Given the description of an element on the screen output the (x, y) to click on. 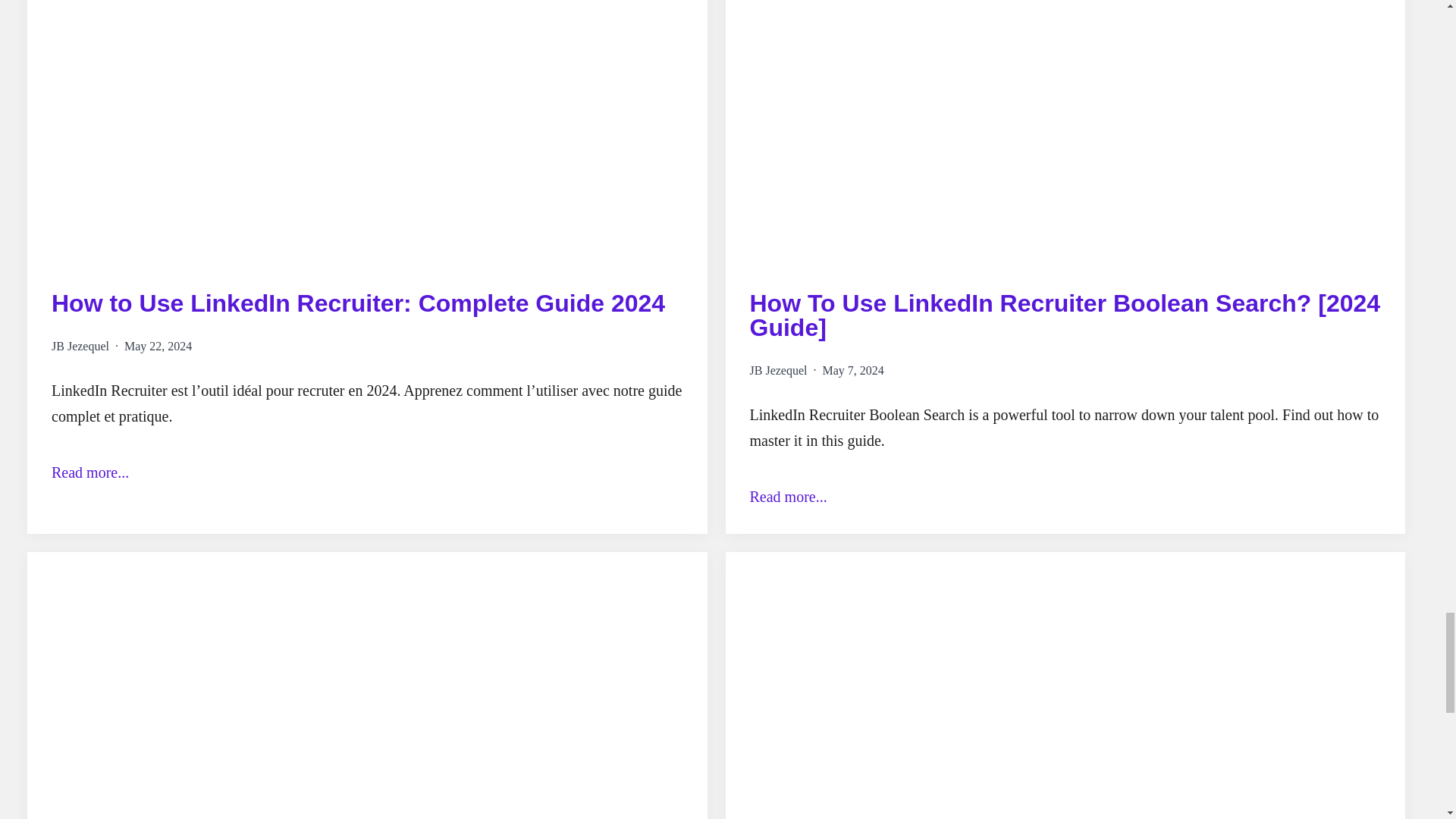
How to Use LinkedIn Recruiter: Complete Guide 2024 (357, 303)
